Given the description of an element on the screen output the (x, y) to click on. 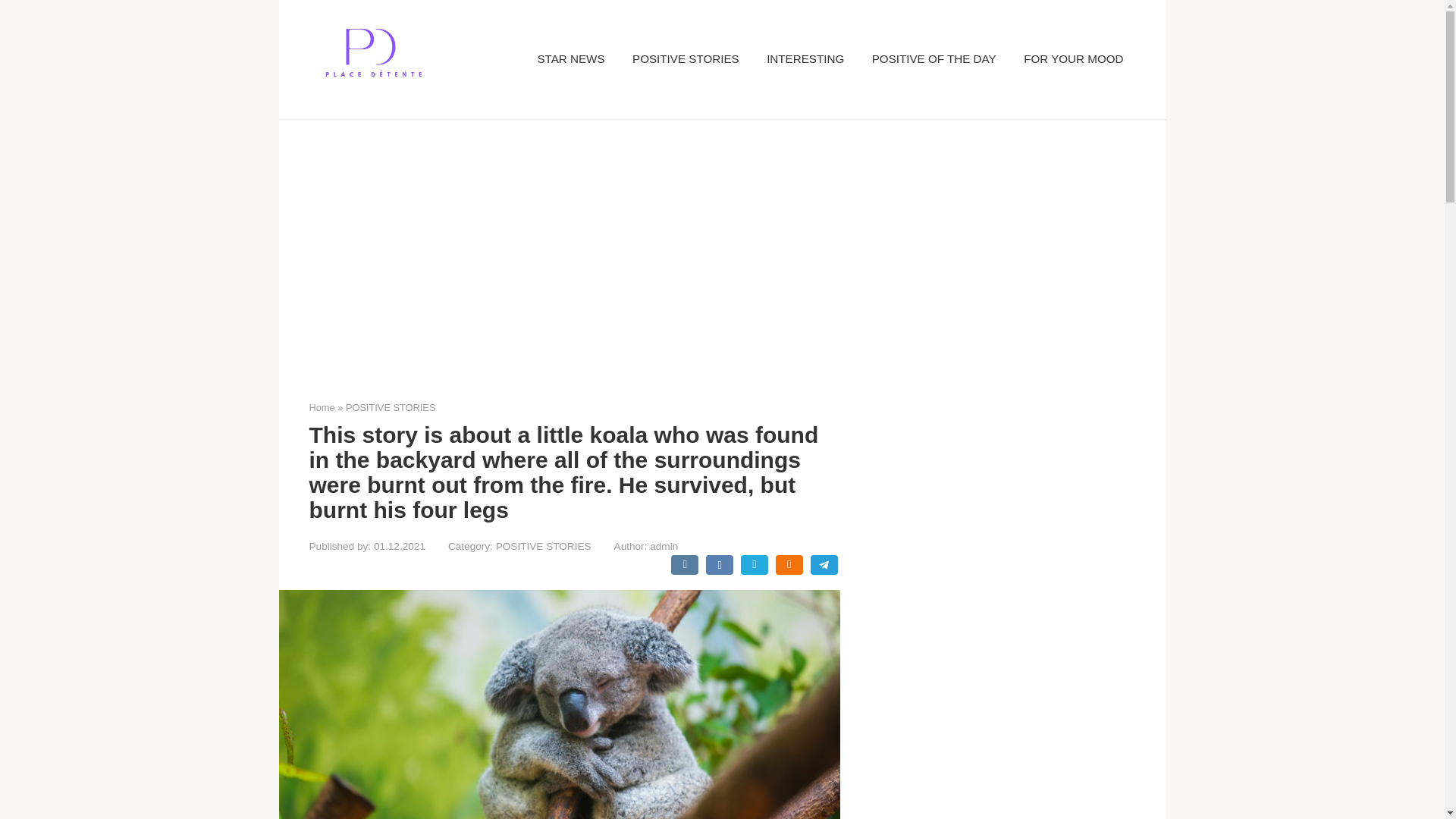
FOR YOUR MOOD (1072, 59)
Home (321, 407)
POSITIVE STORIES (390, 407)
INTERESTING (805, 59)
POSITIVE STORIES (543, 546)
POSITIVE STORIES (685, 59)
STAR NEWS (570, 59)
POSITIVE OF THE DAY (933, 59)
